Given the description of an element on the screen output the (x, y) to click on. 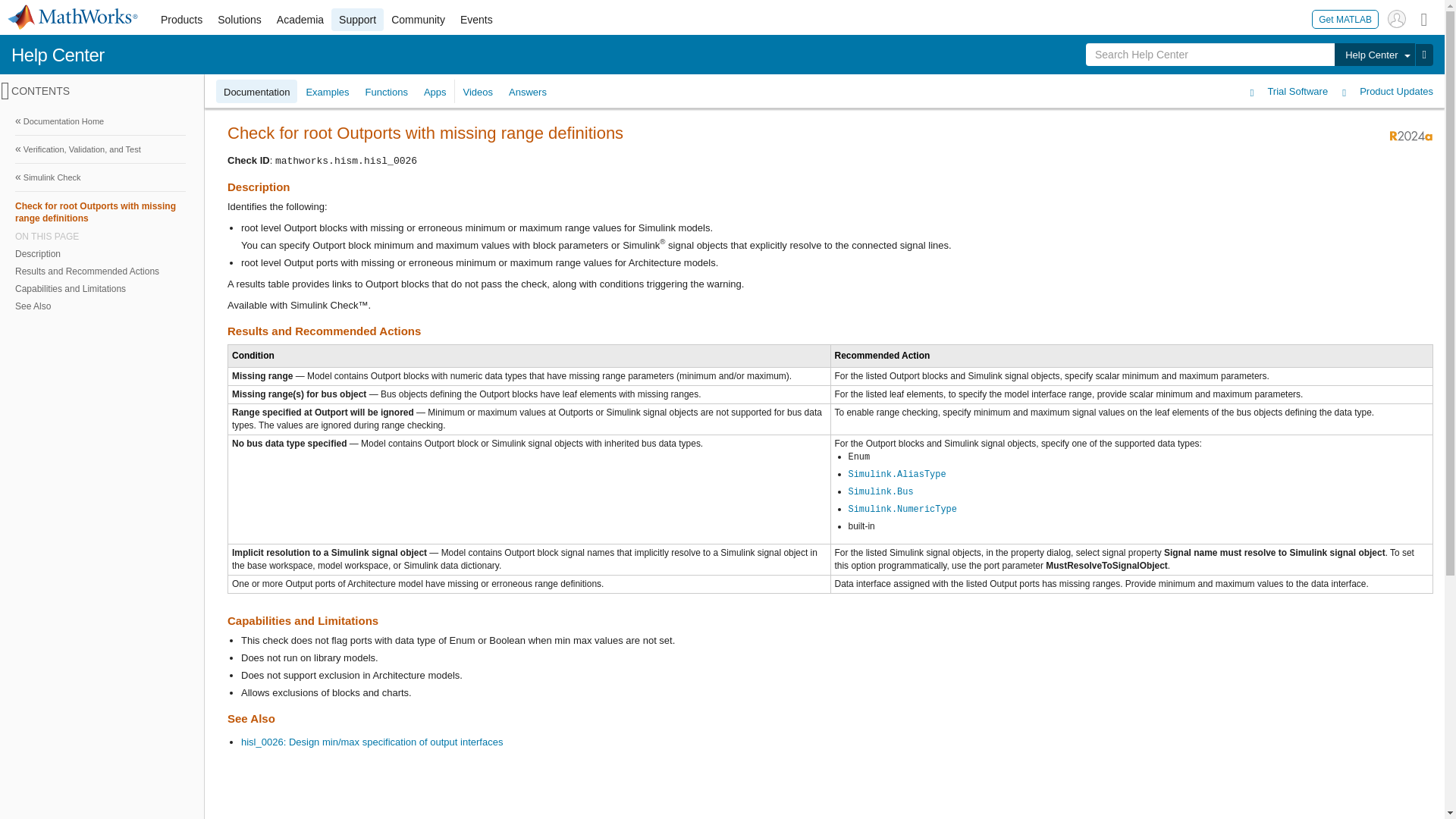
Solutions (239, 19)
Support (357, 19)
Check for root Outports with missing range definitions (100, 211)
Matrix Menu (1423, 18)
ON THIS PAGE (100, 236)
Sign In to Your MathWorks Account (1396, 18)
Products (180, 19)
Community (418, 19)
Events (476, 19)
Academia (300, 19)
Get MATLAB (1344, 18)
